Given the description of an element on the screen output the (x, y) to click on. 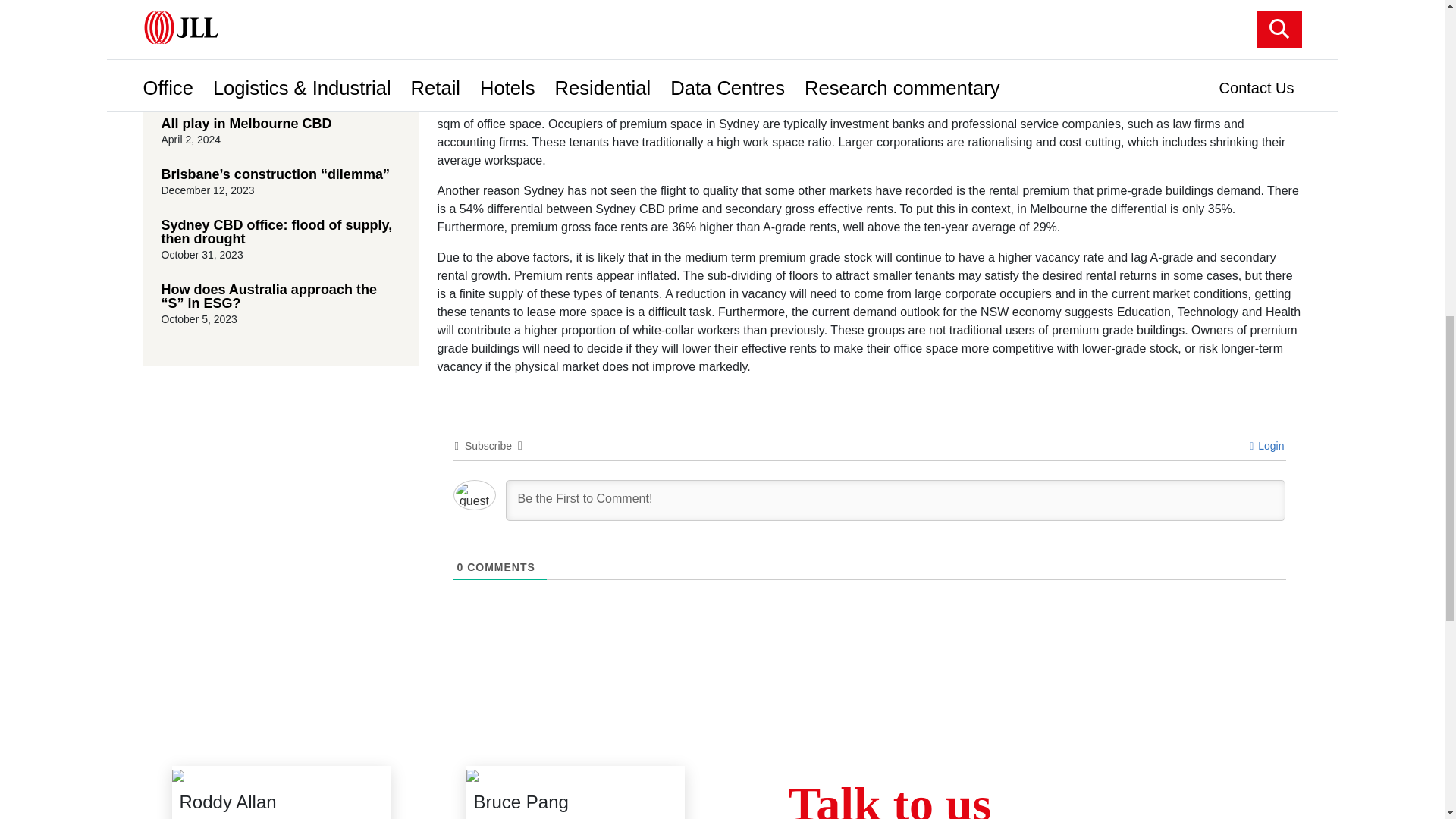
Sydney CBD office: flood of supply, then drought (280, 231)
All play in Melbourne CBD (280, 123)
Login (1266, 445)
